Given the description of an element on the screen output the (x, y) to click on. 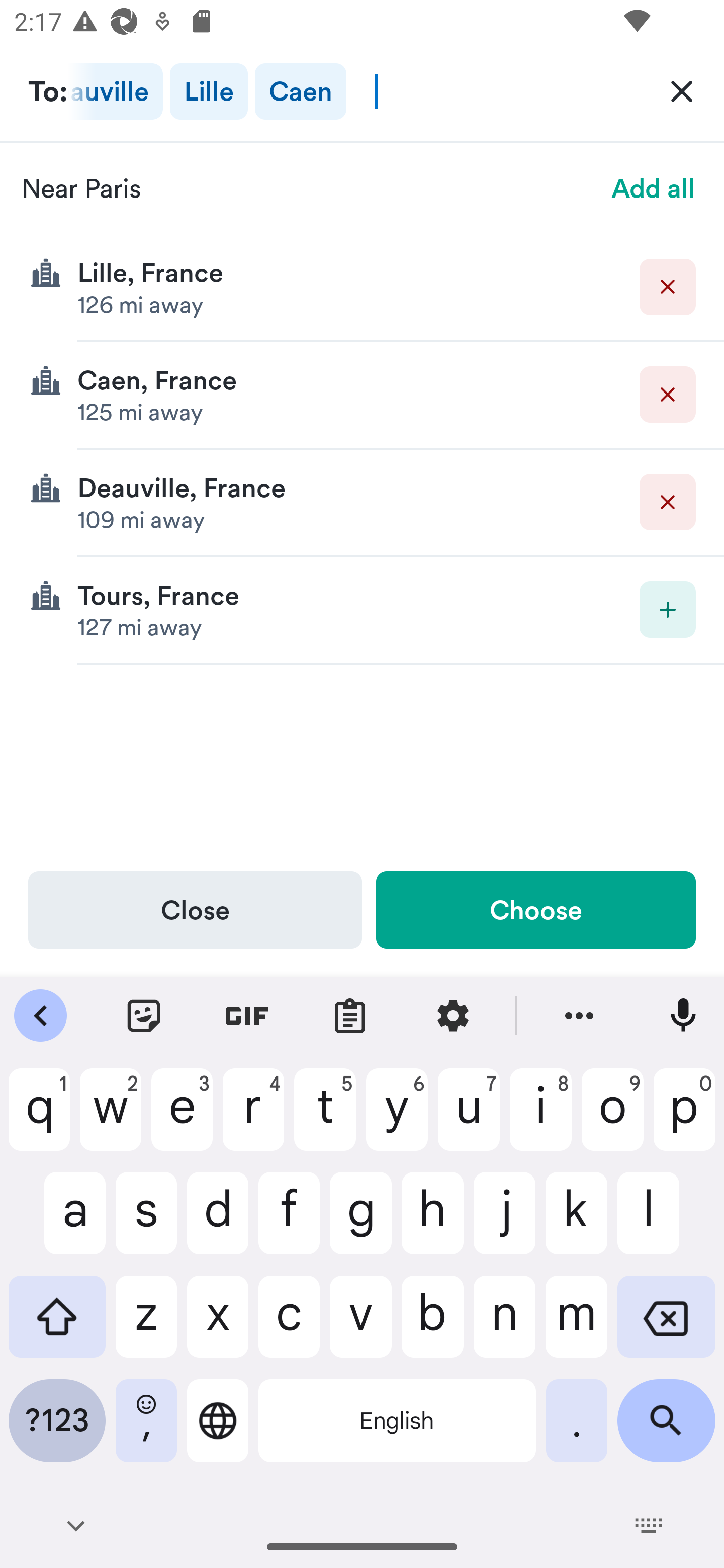
Clear All (681, 90)
Deauville (115, 91)
Lille (209, 91)
Caen (300, 91)
Add all (653, 187)
Delete Lille, France 126 mi away (362, 287)
Delete (667, 286)
Delete Caen, France 125 mi away (362, 395)
Delete (667, 394)
Delete Deauville, France 109 mi away (362, 503)
Delete (667, 501)
Add destination Tours, France 127 mi away (362, 610)
Add destination (667, 609)
Close (195, 909)
Choose (535, 909)
